Given the description of an element on the screen output the (x, y) to click on. 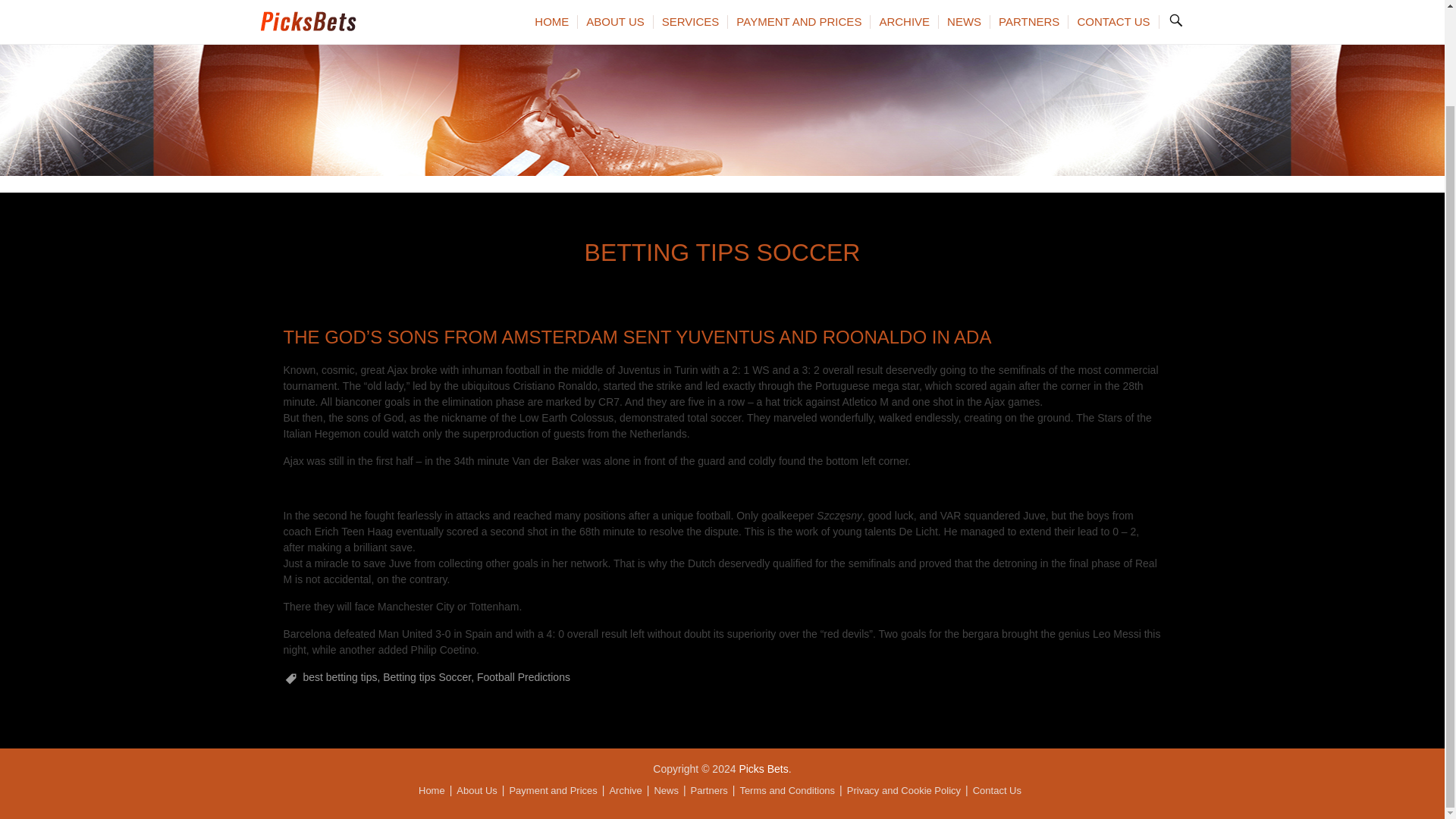
Privacy and Cookie Policy (903, 790)
Partners (709, 790)
Picks Bets (762, 768)
Contact Us (997, 790)
Football Predictions (523, 676)
Payment and Prices (552, 790)
Betting tips Soccer (426, 676)
Terms and Conditions (786, 790)
About Us (476, 790)
Home (432, 790)
